Given the description of an element on the screen output the (x, y) to click on. 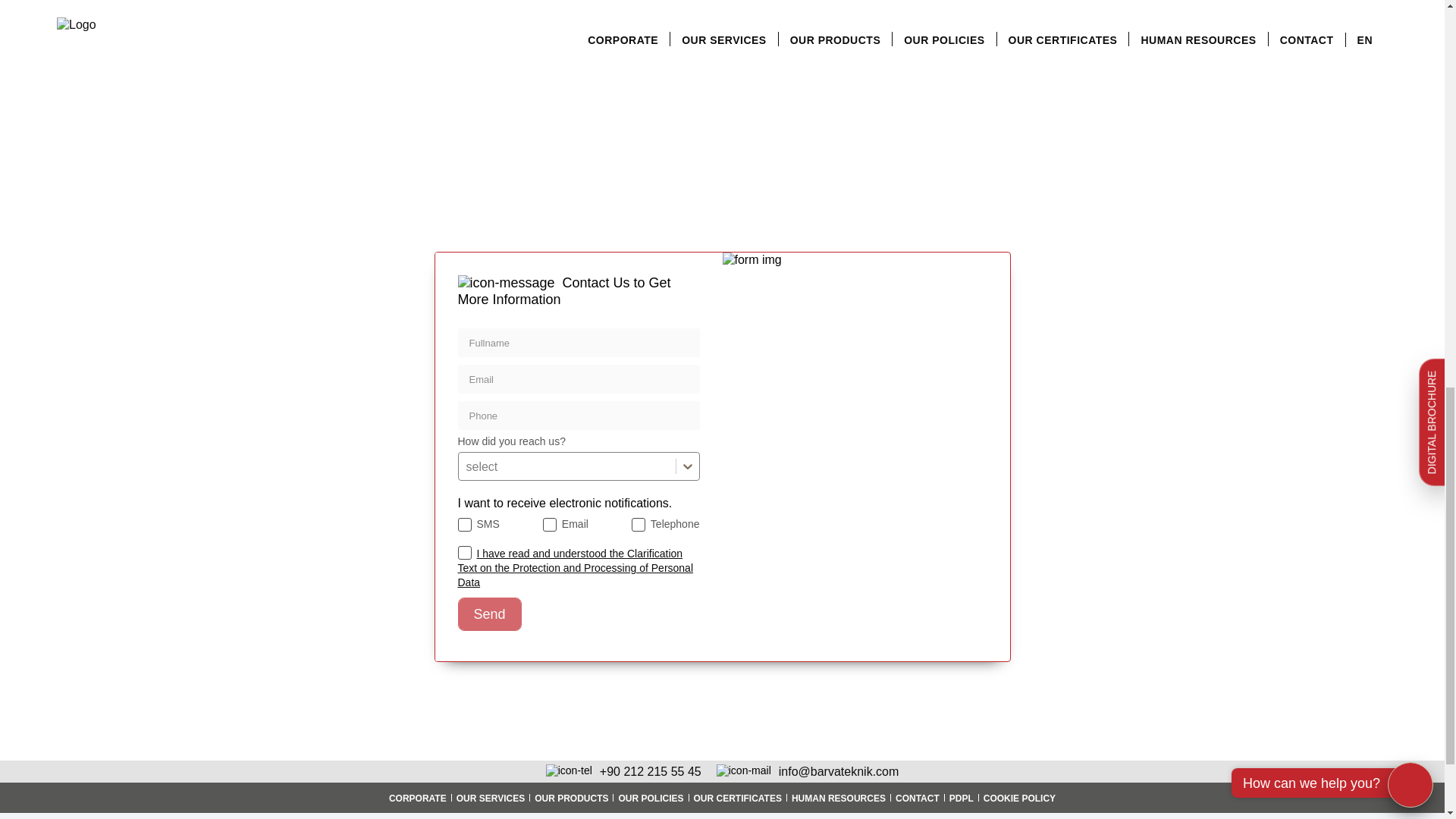
CORPORATE (417, 797)
Send (489, 613)
OUR PRODUCTS (570, 797)
on (464, 552)
SMS ONAY (464, 524)
EPOSTA ONAY (549, 524)
OUR SERVICES (490, 797)
OUR POLICIES (650, 797)
TELEFON ONAY (638, 524)
OUR CERTIFICATES (737, 797)
